Given the description of an element on the screen output the (x, y) to click on. 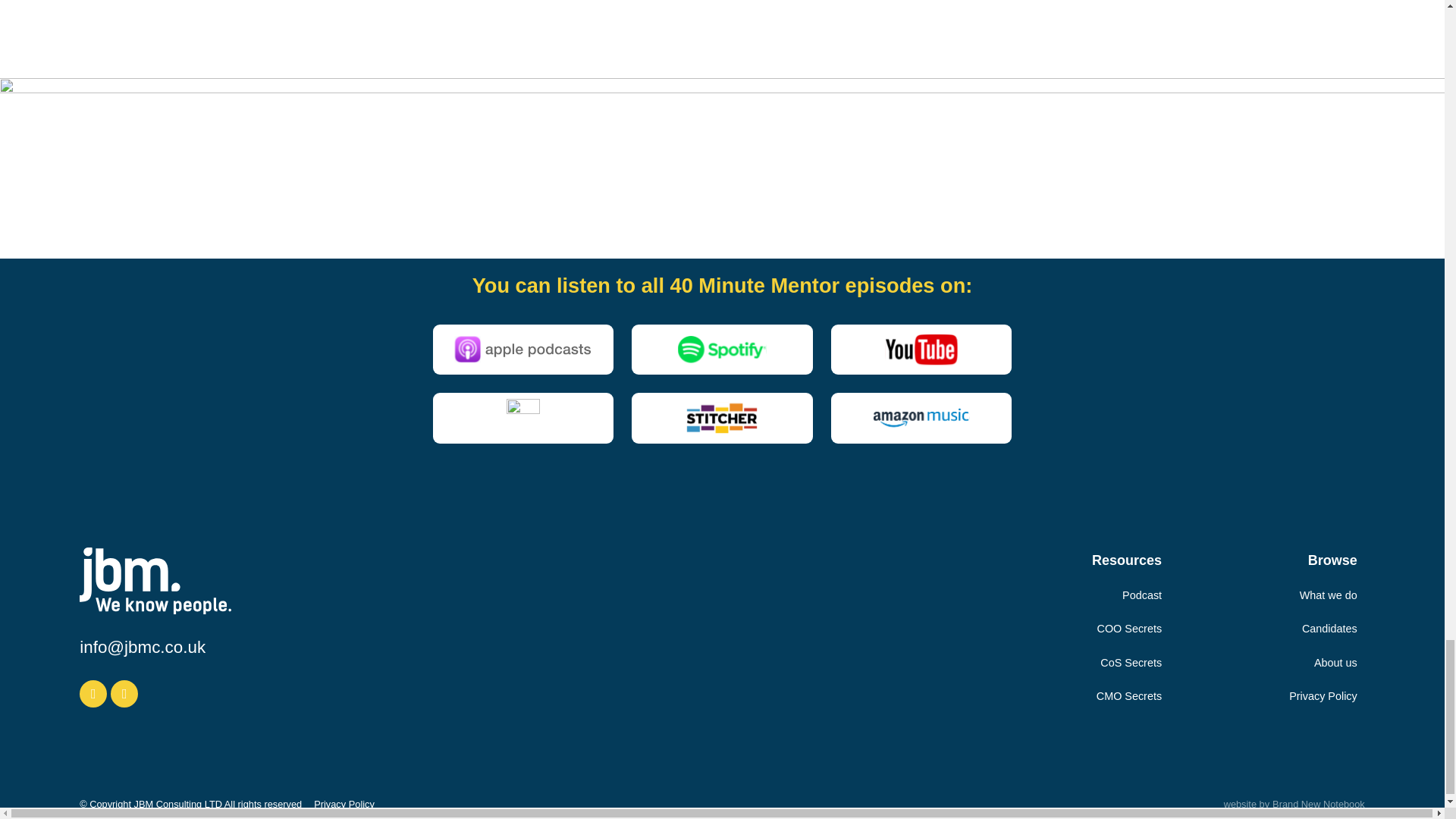
What we do (1328, 594)
CoS Secrets (1130, 662)
Podcast (1141, 594)
CMO Secrets (1128, 695)
COO Secrets (1129, 628)
